Given the description of an element on the screen output the (x, y) to click on. 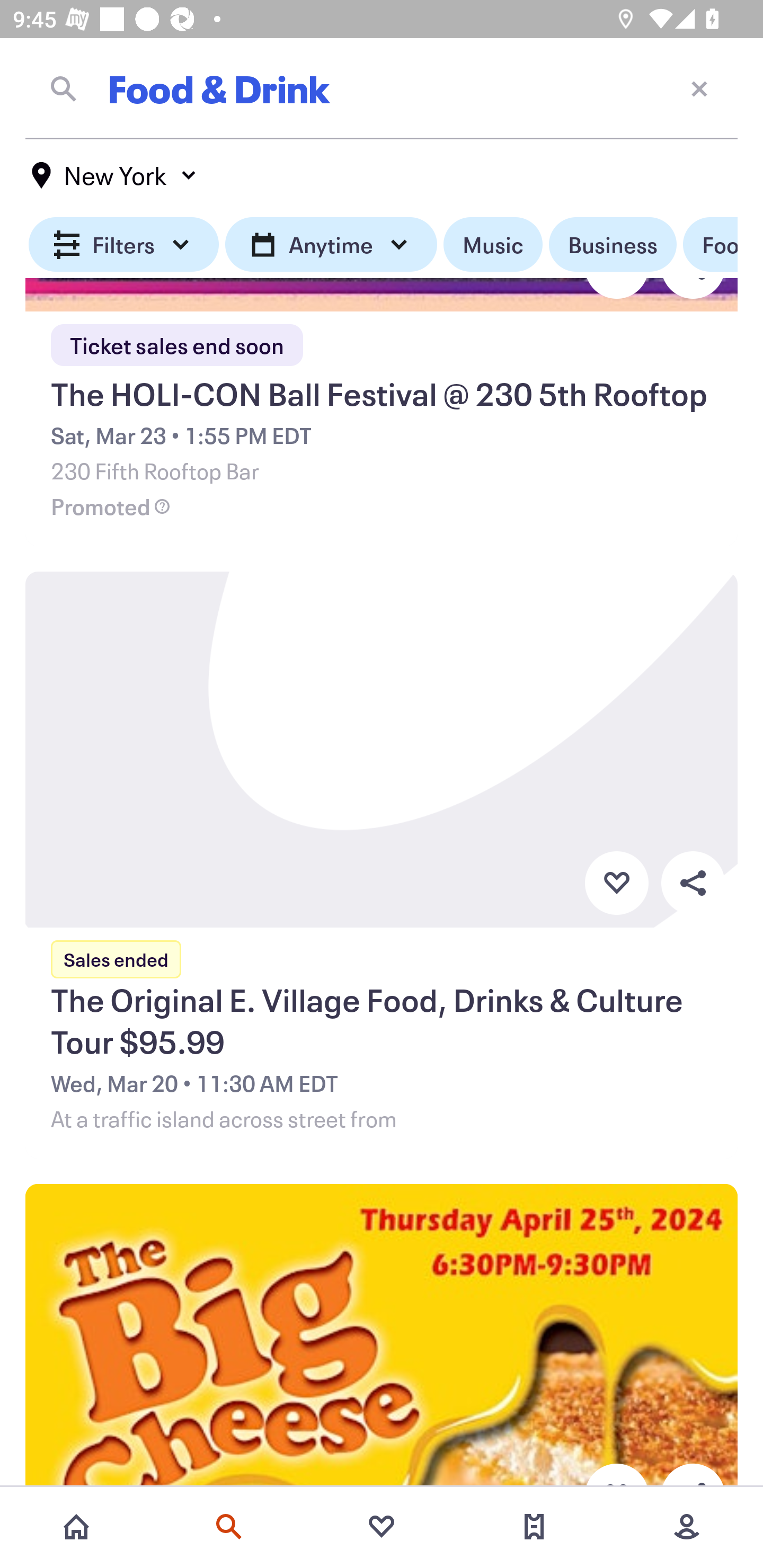
Food & Drink Close current screen (381, 88)
Close current screen (699, 88)
New York (114, 175)
Favorite button (616, 883)
Overflow menu button (692, 883)
Event's image Favorite button Overflow menu button (381, 1337)
Home (76, 1526)
Search events (228, 1526)
Favorites (381, 1526)
Tickets (533, 1526)
More (686, 1526)
